Given the description of an element on the screen output the (x, y) to click on. 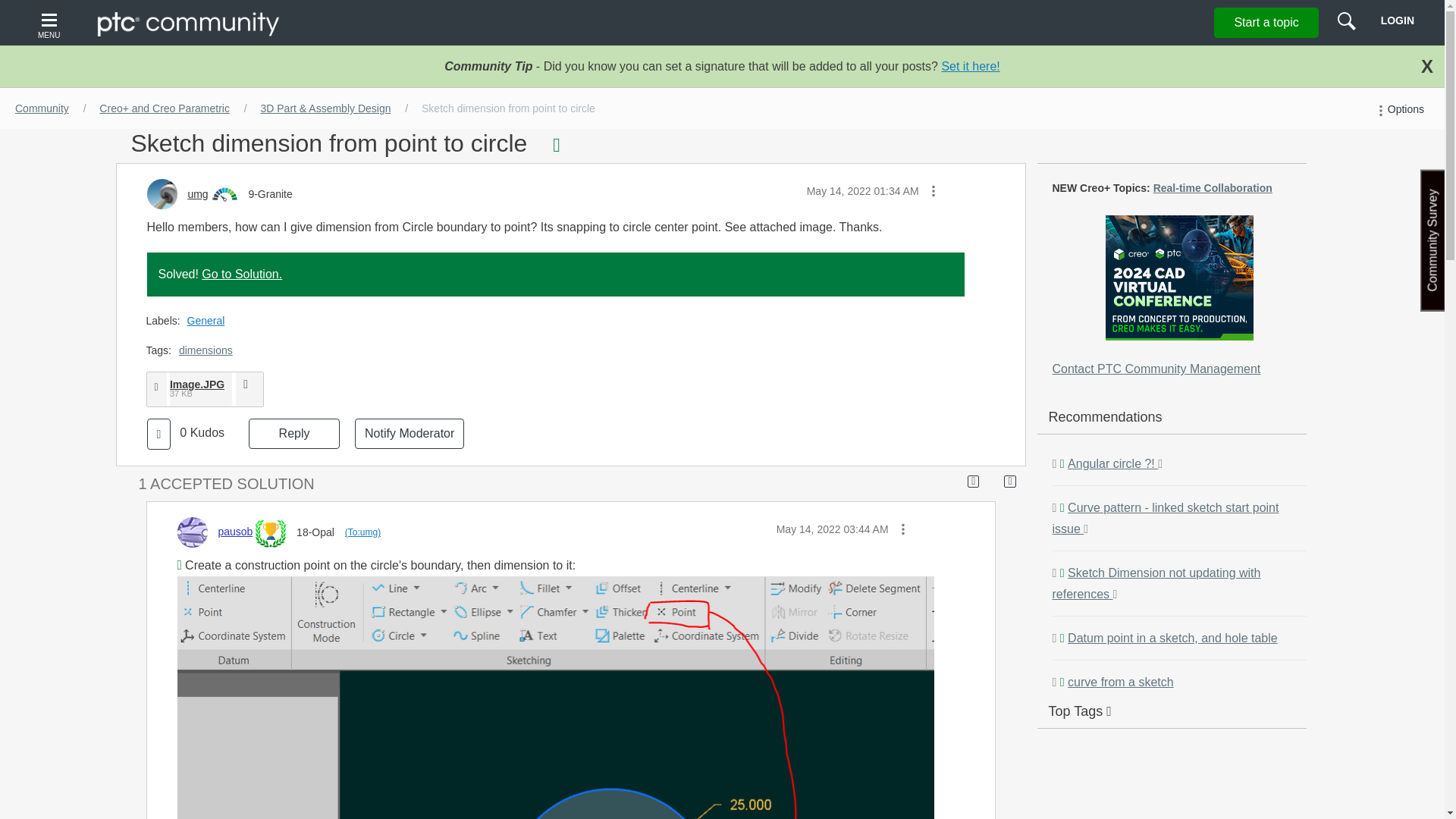
Community (42, 108)
Set it here! (969, 65)
Options (1398, 109)
Start a topic (1265, 22)
LOGIN (1396, 20)
MENU (50, 22)
